Given the description of an element on the screen output the (x, y) to click on. 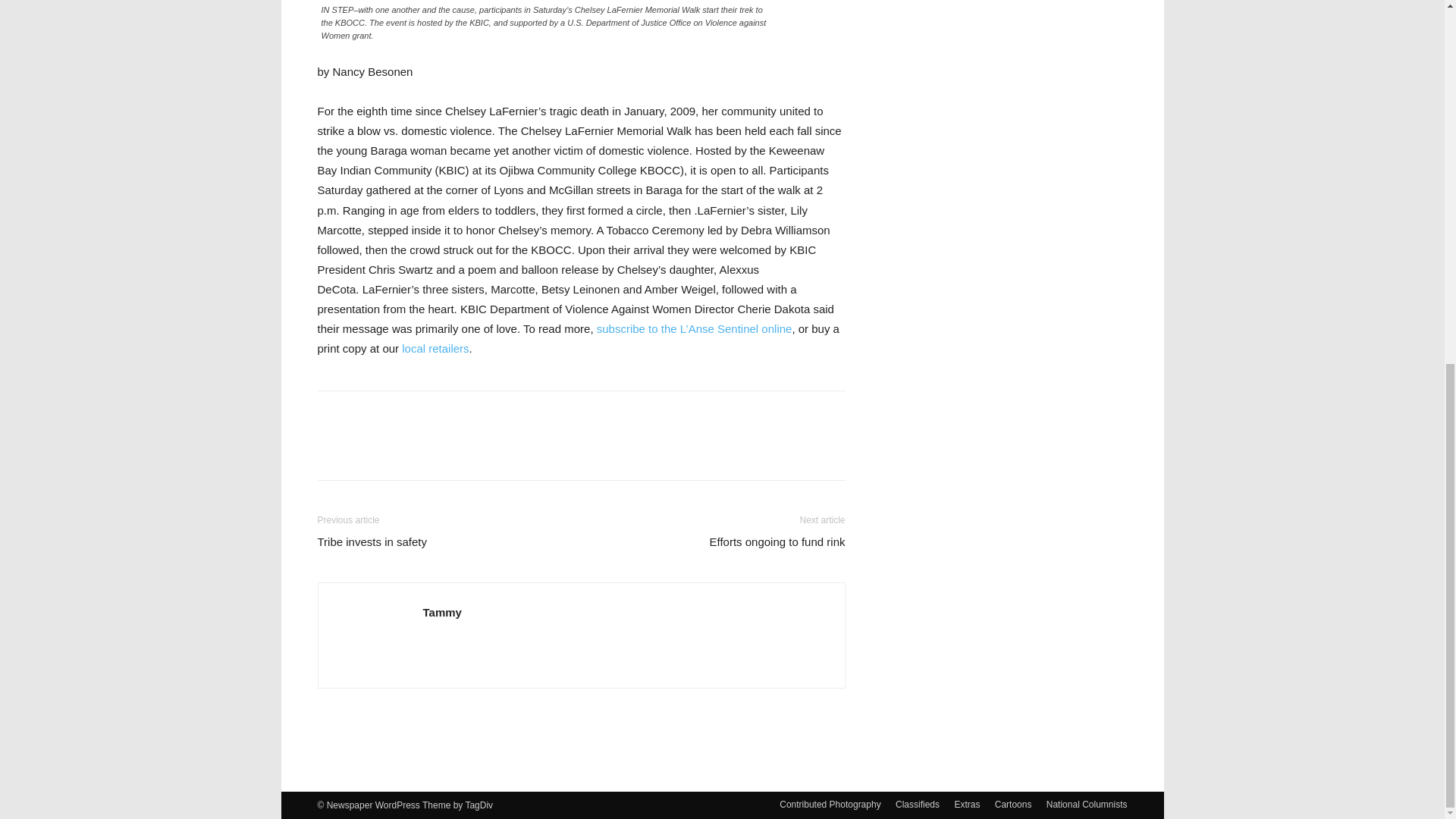
Where to buy (434, 348)
Tammy (442, 612)
Tribe invests in safety (371, 541)
Efforts ongoing to fund rink (776, 541)
bottomFacebookLike (430, 415)
local retailers (434, 348)
